Given the description of an element on the screen output the (x, y) to click on. 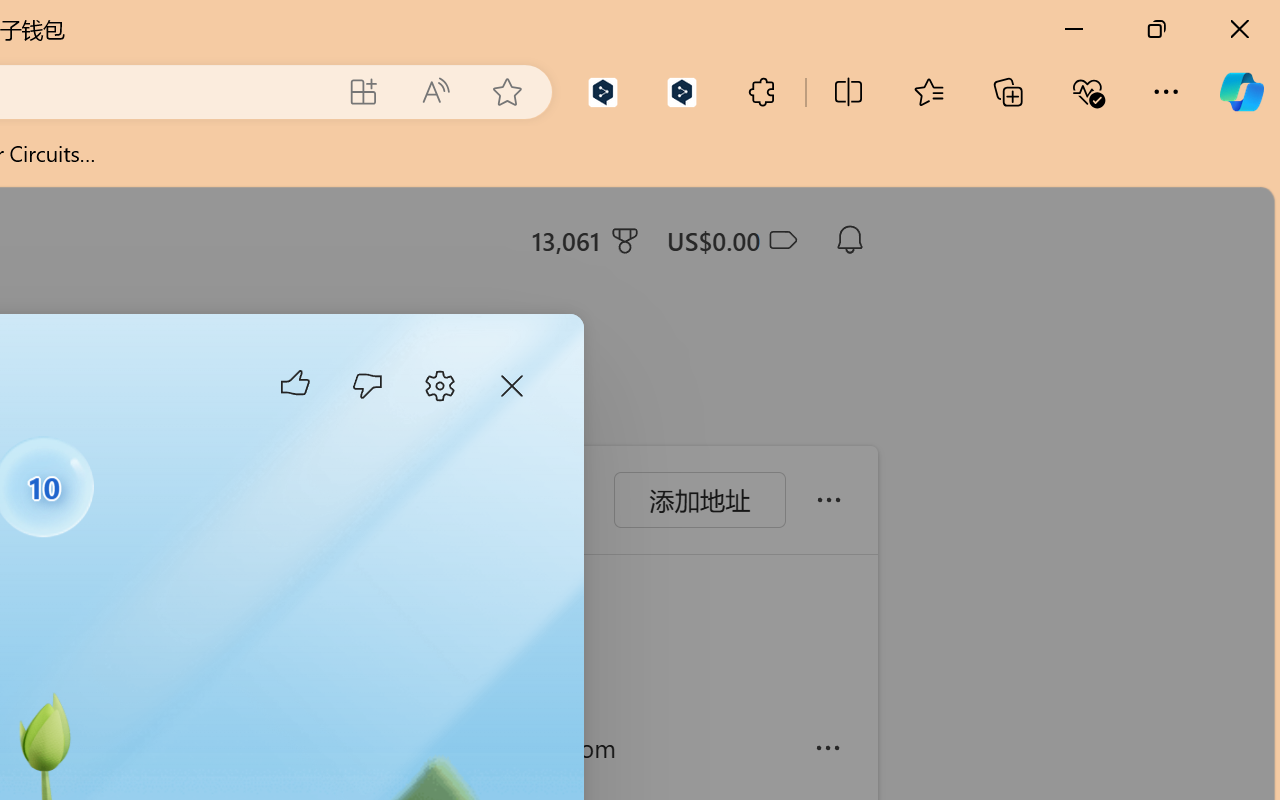
644553698@qq.com (583, 747)
Microsoft Cashback - US$0.00 (731, 240)
